Given the description of an element on the screen output the (x, y) to click on. 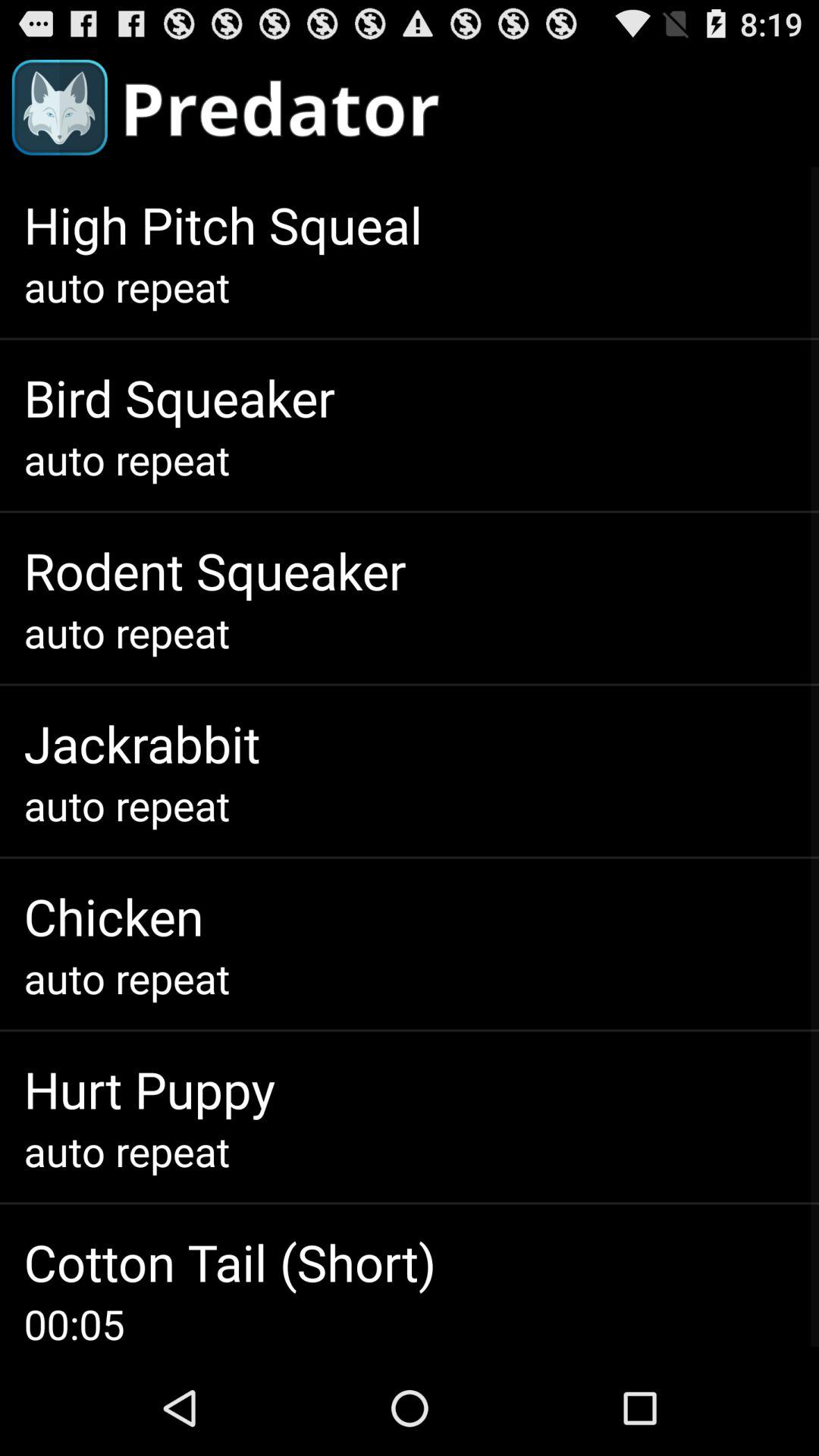
turn on item above auto repeat app (214, 570)
